Given the description of an element on the screen output the (x, y) to click on. 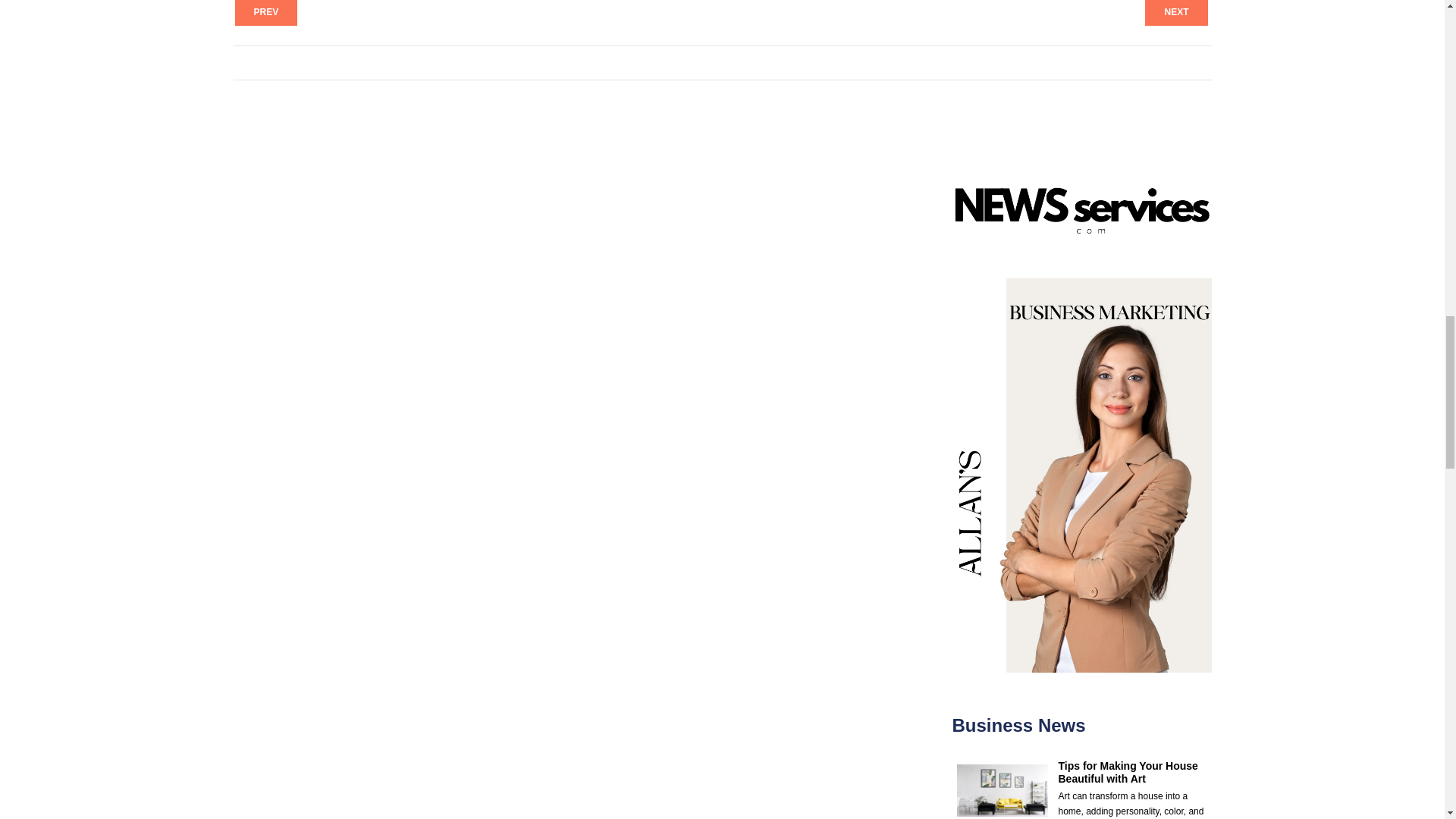
Tips for Making Your House Beautiful with Art (1128, 772)
PREV (266, 12)
NEXT (1175, 12)
Tips for Making Your House Beautiful with Art (1128, 772)
